Given the description of an element on the screen output the (x, y) to click on. 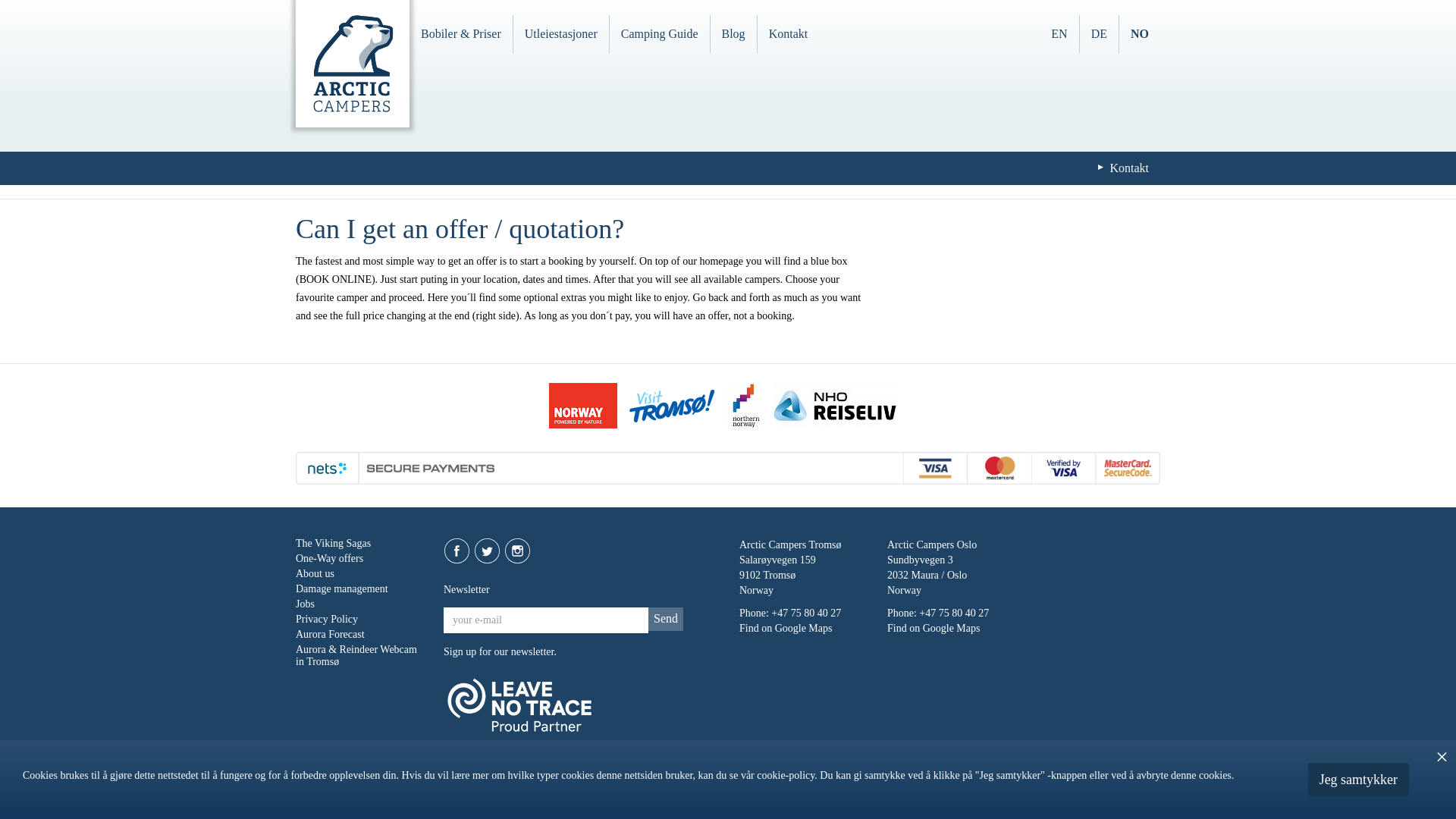
Kontakt (788, 34)
Blog (732, 34)
Utleiestasjoner (560, 34)
The Viking Sagas (333, 542)
Send (664, 618)
Aurora Forecast (330, 633)
DE (1099, 34)
Damage management (341, 588)
EN (1058, 34)
Jobs (304, 603)
Camping Guide (660, 34)
NO (1139, 34)
Kontakt (1128, 168)
Privacy Policy (326, 618)
One-Way offers (328, 558)
